Given the description of an element on the screen output the (x, y) to click on. 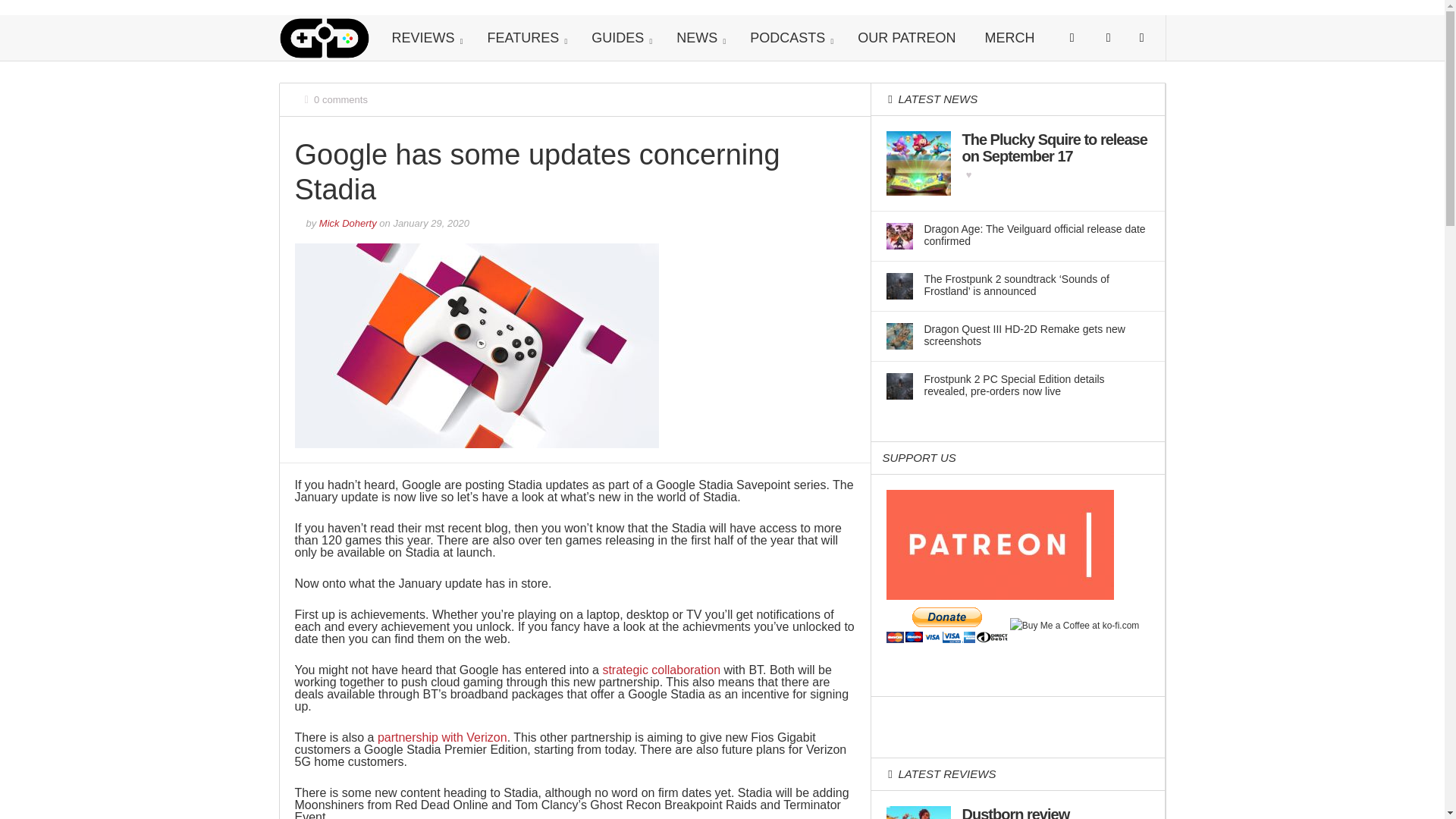
REVIEWS (425, 37)
NEWS (698, 37)
GUIDES (619, 37)
FEATURES (525, 37)
PODCASTS (789, 37)
